Given the description of an element on the screen output the (x, y) to click on. 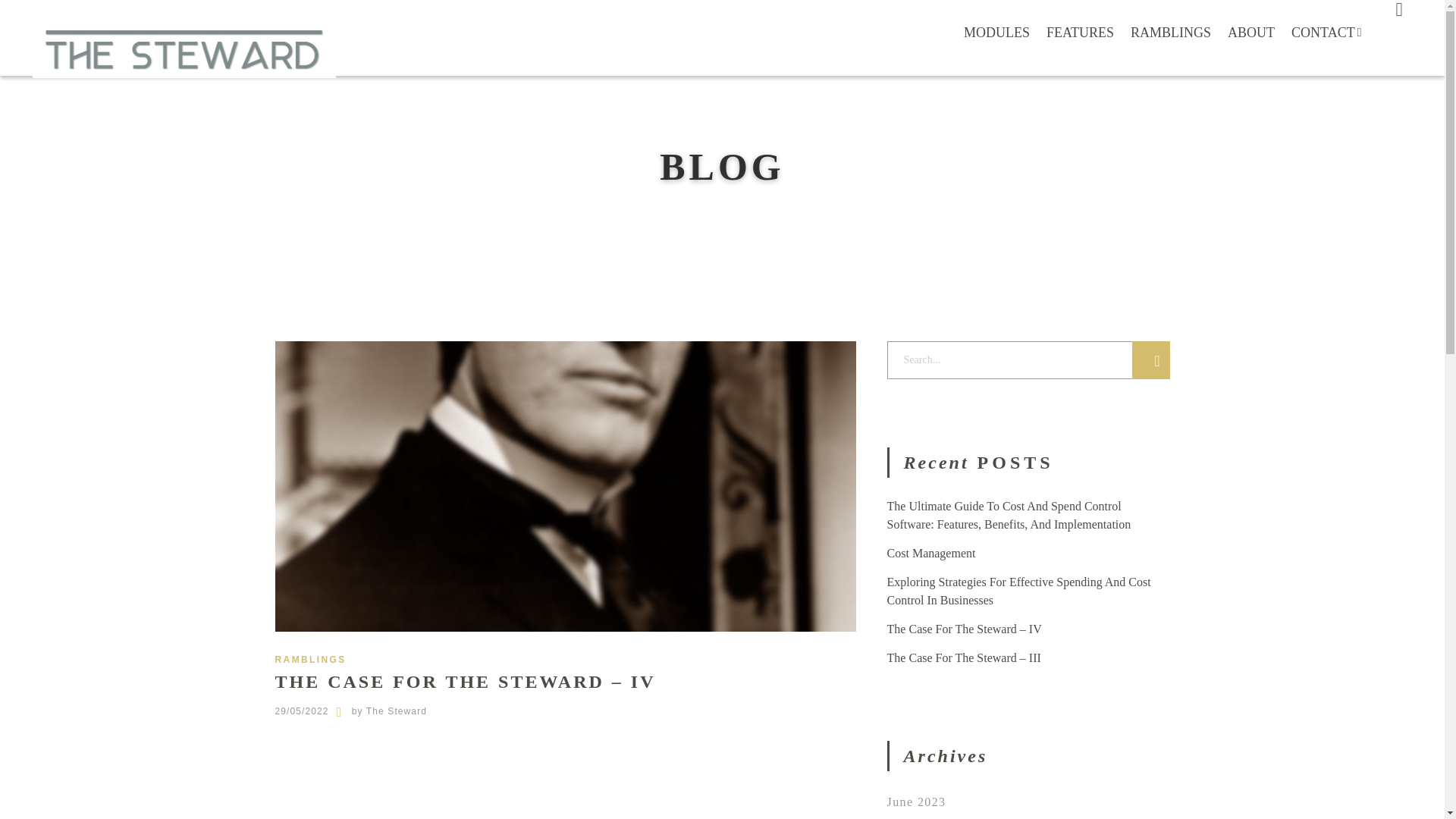
Cost Management (930, 553)
CONTACT (1326, 44)
MORE FROM LESERIES (721, 746)
Where Service Meets Tradition (183, 49)
June 2023 (916, 801)
FEATURES (1079, 33)
ABOUT (1251, 33)
MODULES (996, 33)
RAMBLINGS (310, 659)
